Given the description of an element on the screen output the (x, y) to click on. 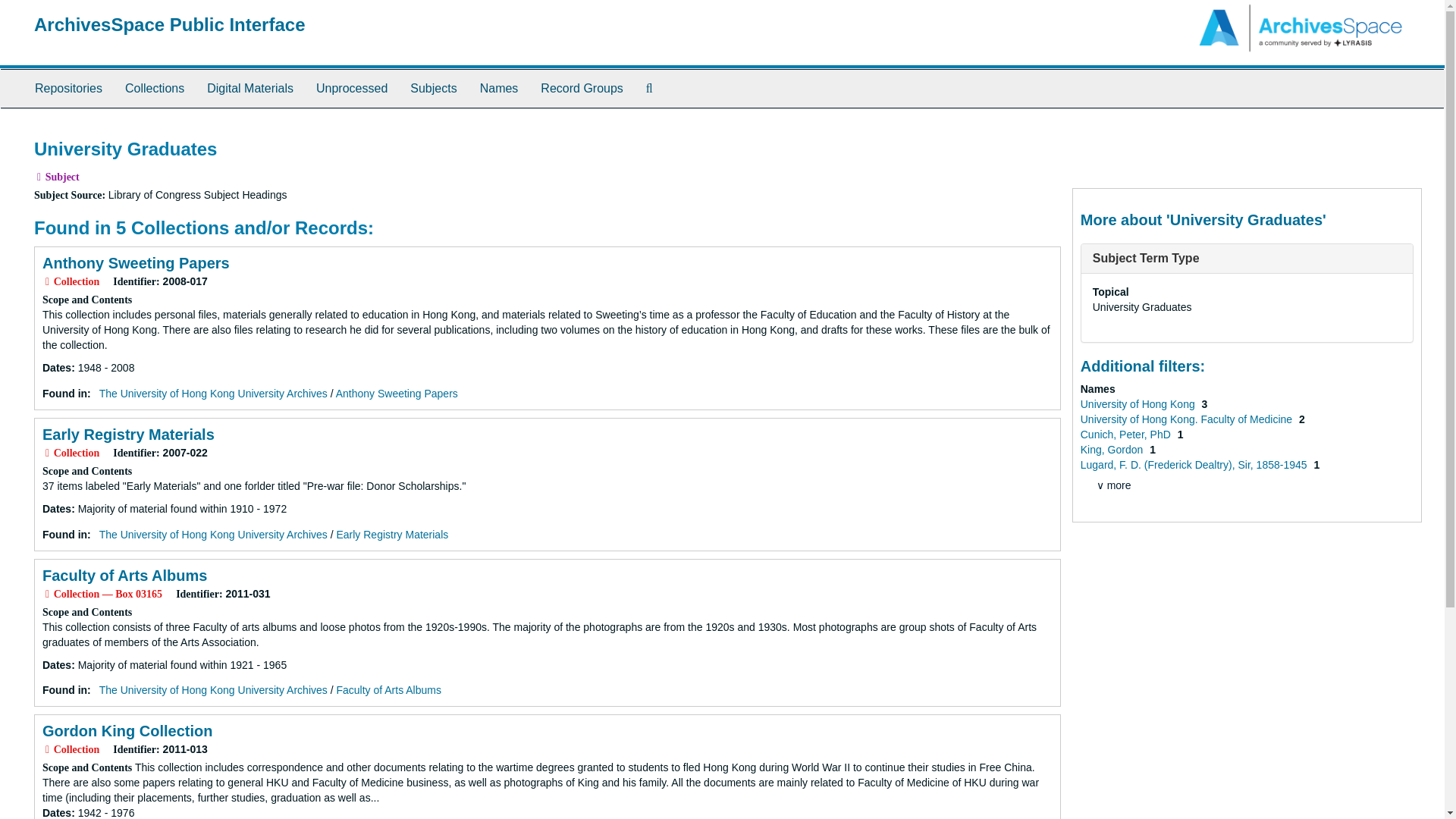
Gordon King Collection (127, 730)
Digital Materials (249, 88)
Filter By 'University of Hong Kong. Faculty of Medicine' (1187, 419)
University of Hong Kong (1139, 404)
Anthony Sweeting Papers (397, 393)
Faculty of Arts Albums (388, 689)
Anthony Sweeting Papers (136, 262)
translation missing: en.unprocessed (351, 88)
Filter By 'University of Hong Kong' (1139, 404)
Cunich, Peter, PhD (1126, 434)
